Given the description of an element on the screen output the (x, y) to click on. 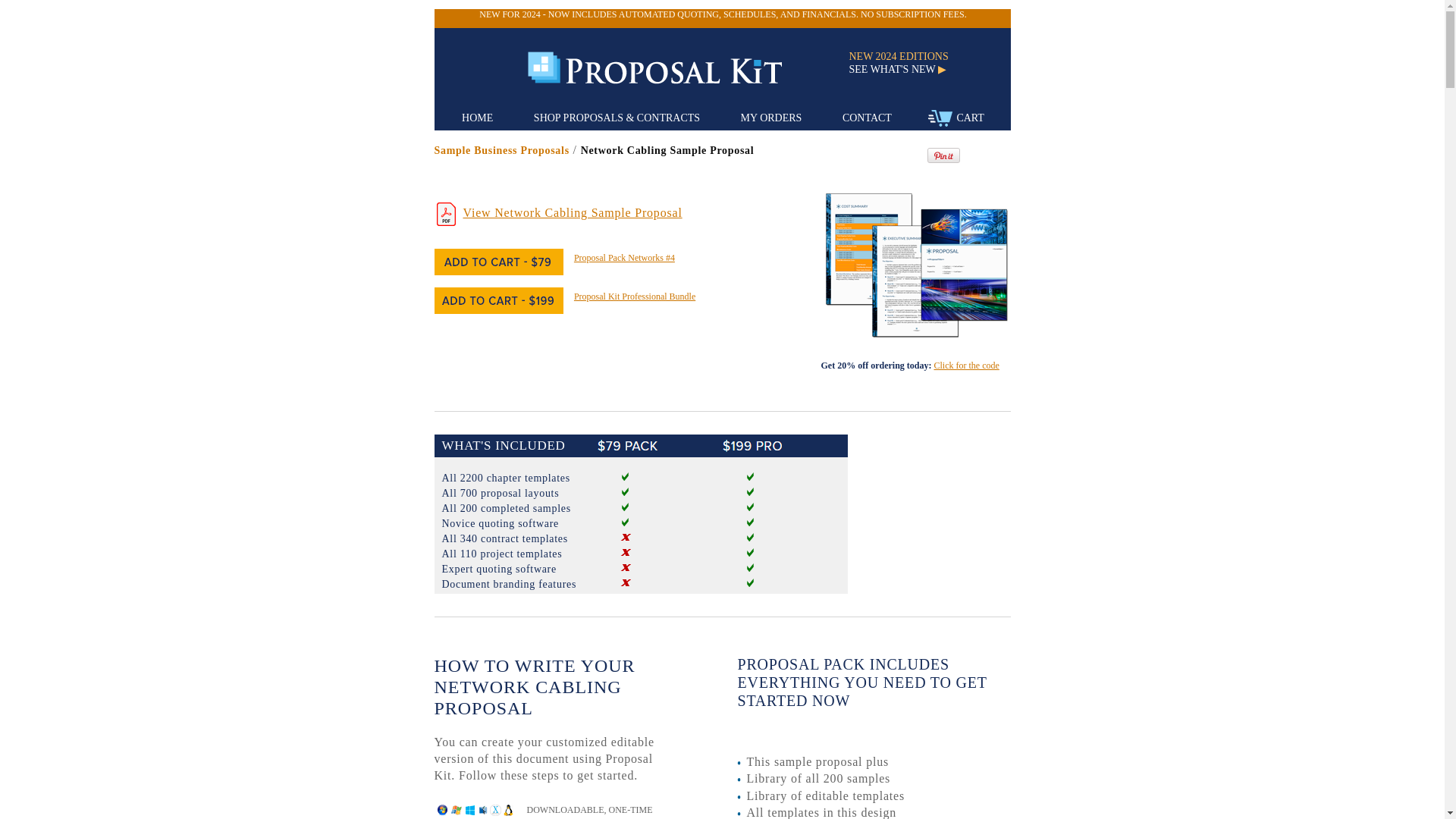
Major Proposal Kit version upgrade just released. (722, 14)
Shop Proposal Kit Proposal and Contract Products (617, 118)
Proposal Kit - It's all About Trust (667, 68)
CART (956, 118)
All Sample Business Proposals (501, 150)
MY ORDERS (771, 118)
HOME (477, 118)
Shopping Cart Checkout and Download (956, 118)
View Network Cabling Sample Proposal (572, 212)
Pin this Network Cabling Sample Proposal (942, 159)
Customer Login - Download or Upgrade a Past Order (771, 118)
Sample Business Proposals (501, 150)
Proposal Kit Home (654, 67)
Shopping Cart (940, 118)
